Given the description of an element on the screen output the (x, y) to click on. 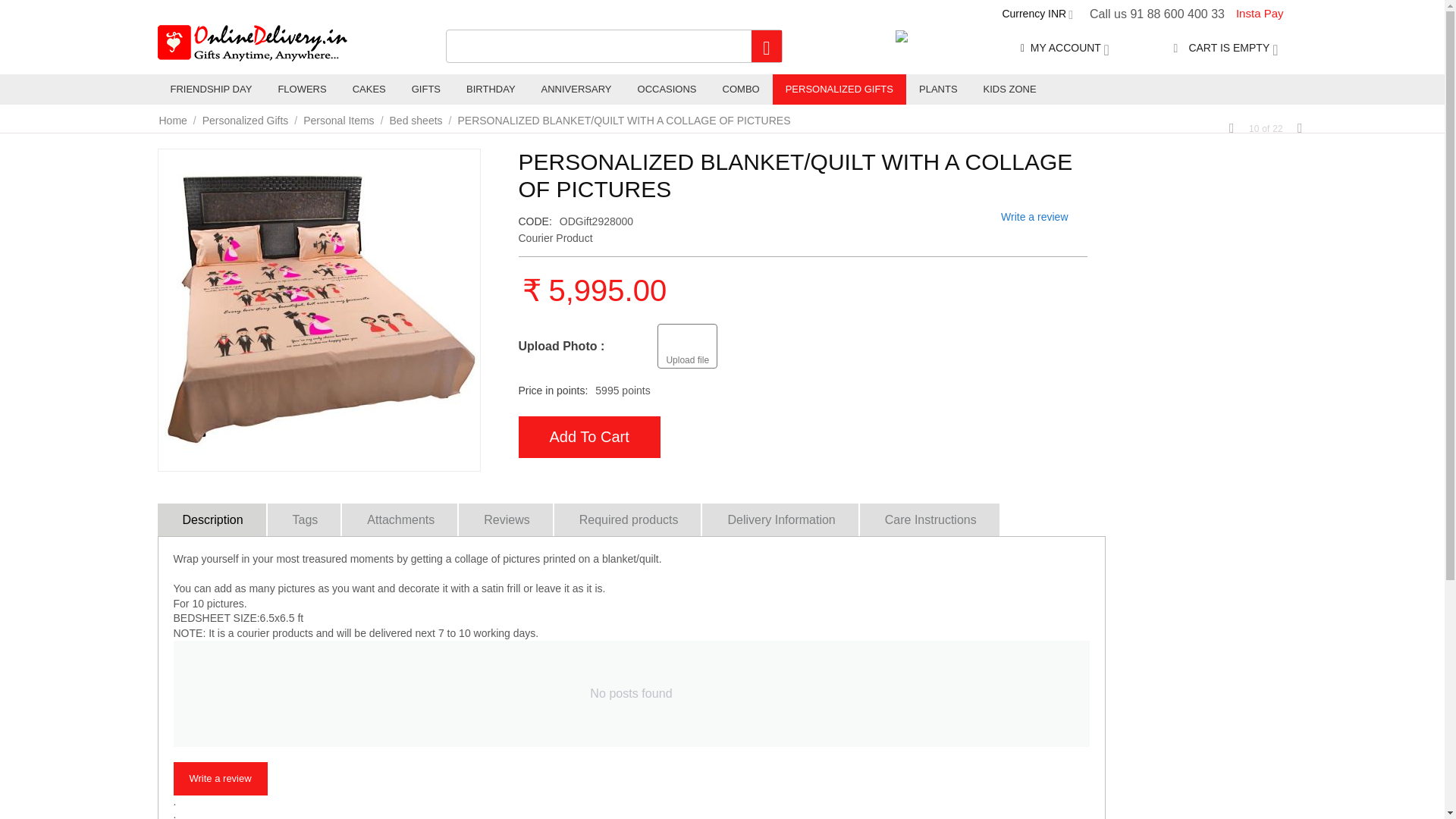
CART IS EMPTY (1225, 47)
  MY ACCOUNT (1064, 47)
Search products (614, 46)
FRIENDSHIP DAY (210, 89)
Search (766, 46)
Currency INR (1037, 13)
Write a review (219, 779)
Write a review (1034, 216)
Insta Pay (1259, 13)
